Given the description of an element on the screen output the (x, y) to click on. 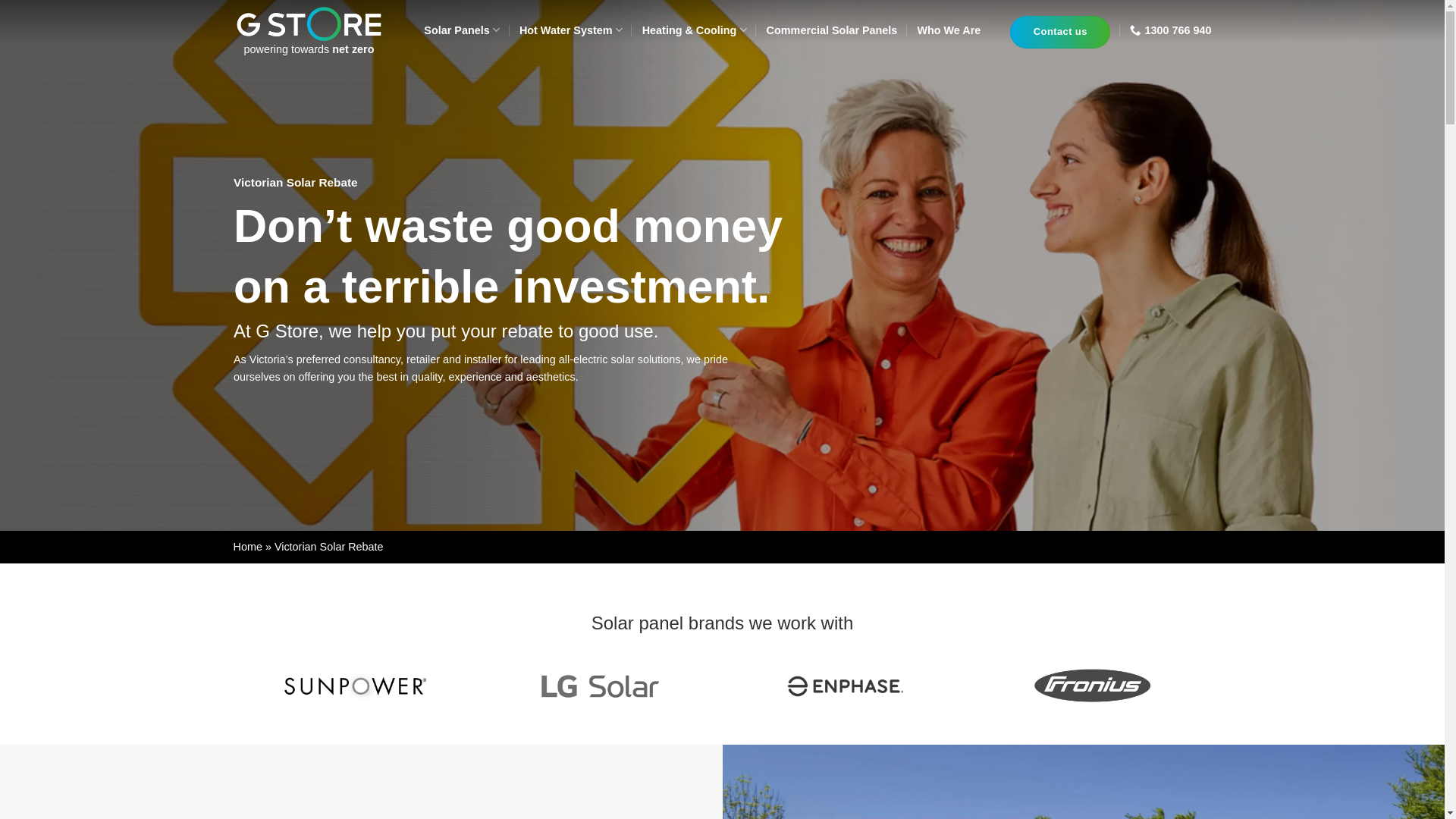
Enphase Logo Element type: hover (844, 686)
Contact us Element type: text (1060, 31)
1300 766 940 Element type: text (1170, 29)
Commercial Solar Panels Element type: text (831, 29)
Home Element type: text (247, 546)
Fronius Logo Element type: hover (1089, 685)
Who We Are Element type: text (948, 29)
Solar Panels Melbourne Element type: hover (309, 23)
Heating & Cooling Element type: text (694, 29)
Hot Water System Element type: text (570, 29)
LG Solar Logo Element type: hover (599, 686)
Solar Panels Element type: text (461, 29)
Skip to content Element type: text (0, 0)
Sunpower Logo Element type: hover (355, 686)
